Given the description of an element on the screen output the (x, y) to click on. 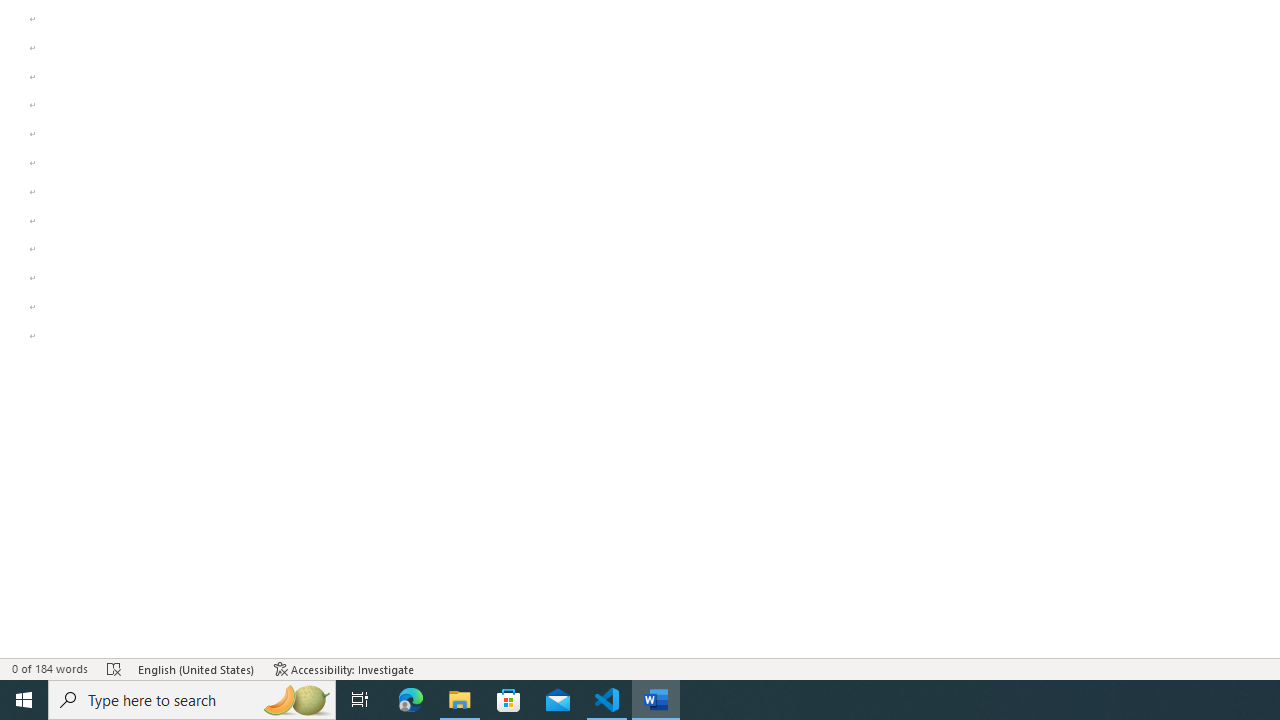
Spelling and Grammar Check Errors (114, 668)
Word Count 0 of 184 words (49, 668)
